Given the description of an element on the screen output the (x, y) to click on. 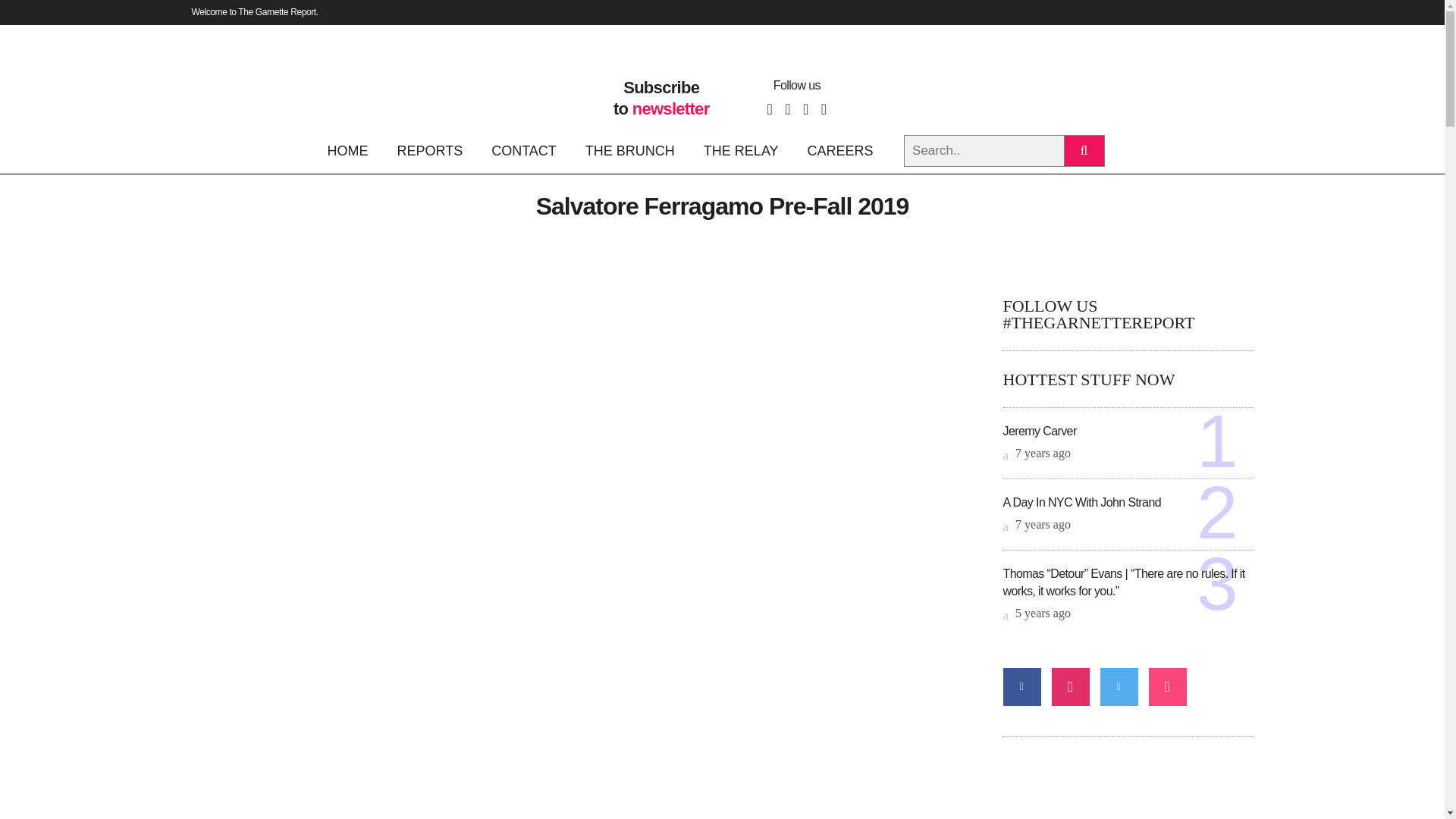
THE RELAY (740, 150)
CAREERS (840, 150)
CONTACT (523, 150)
Jeremy Carver (1039, 431)
HOME (353, 150)
THE BRUNCH (629, 150)
REPORTS (429, 150)
A Day In NYC With John Strand (1081, 502)
